Given the description of an element on the screen output the (x, y) to click on. 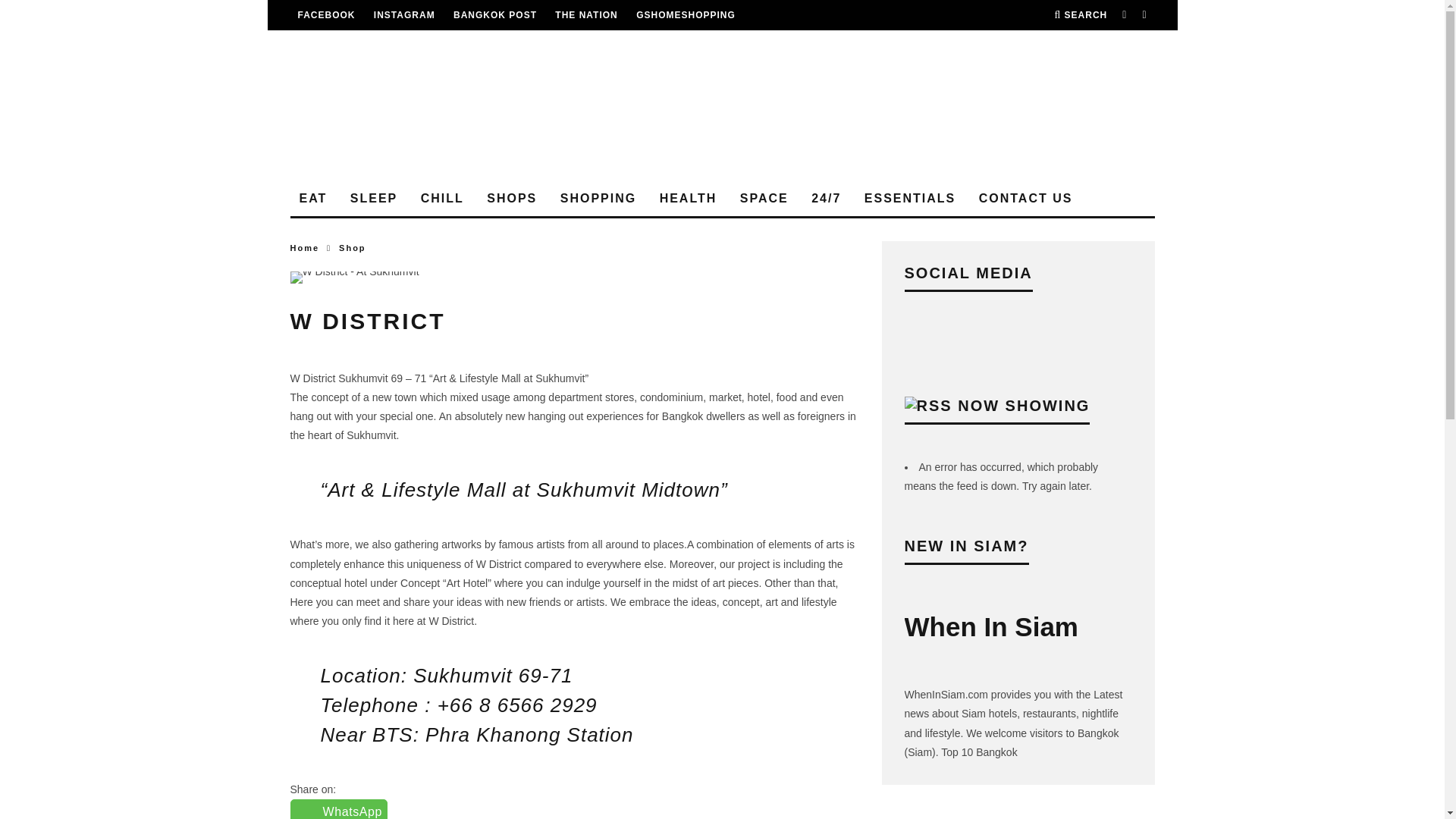
FACEBOOK (326, 15)
INSTAGRAM (404, 15)
SEARCH (1080, 15)
When In Siam (404, 15)
BANGKOK POST (494, 15)
View all posts in Shop (352, 247)
Search (1080, 15)
GSHOMESHOPPING (685, 15)
THE NATION (585, 15)
When In Siam (326, 15)
